Given the description of an element on the screen output the (x, y) to click on. 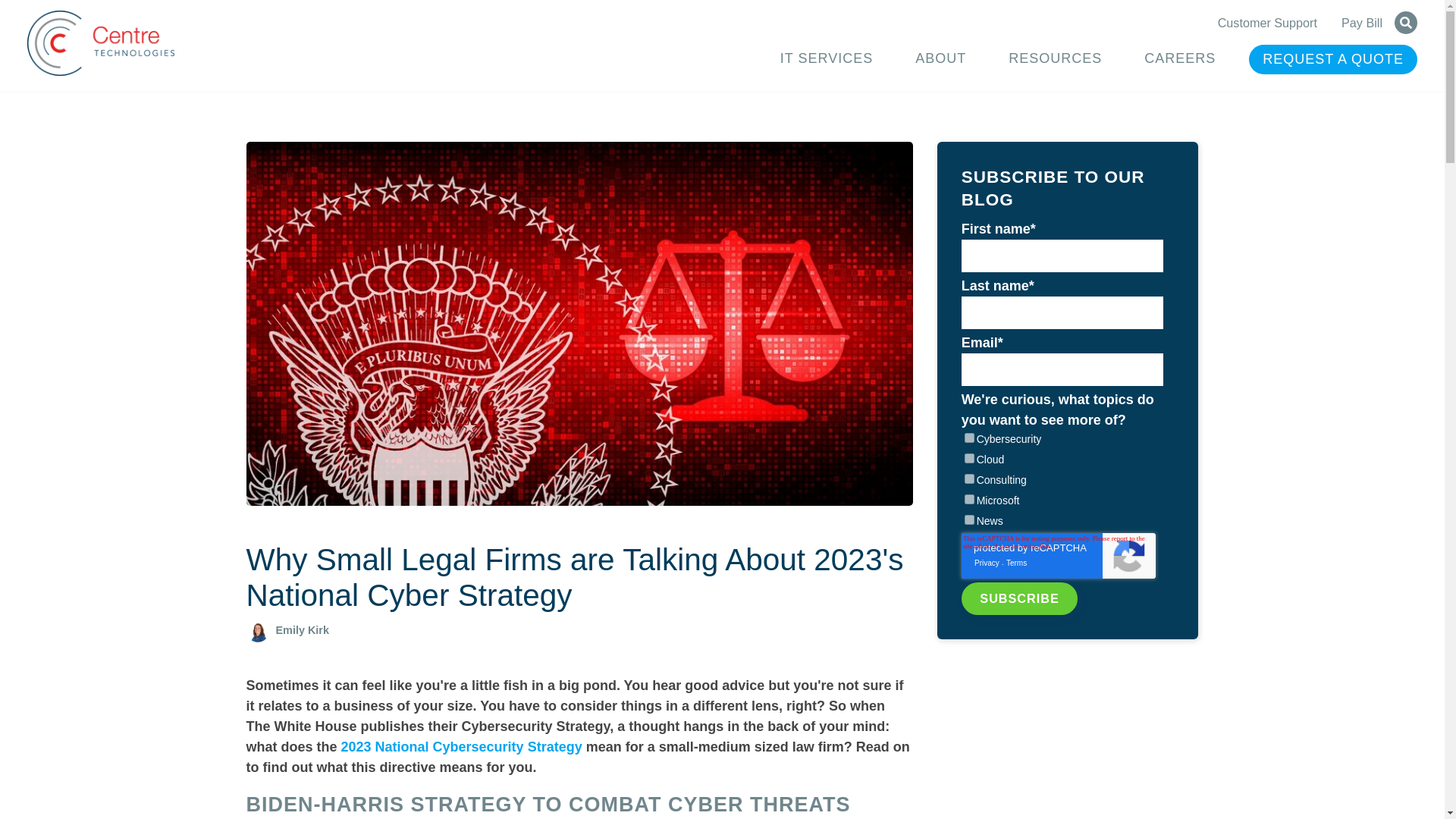
reCAPTCHA (1058, 555)
RESOURCES (1054, 59)
ABOUT (940, 59)
Customer Support (1267, 22)
Cloud (968, 458)
Pay Bill (1360, 22)
SUBSCRIBE (1019, 598)
Microsoft (968, 499)
Consulting (968, 479)
IT SERVICES (826, 59)
CAREERS (1179, 59)
News (968, 519)
Cybersecurity (968, 438)
